Given the description of an element on the screen output the (x, y) to click on. 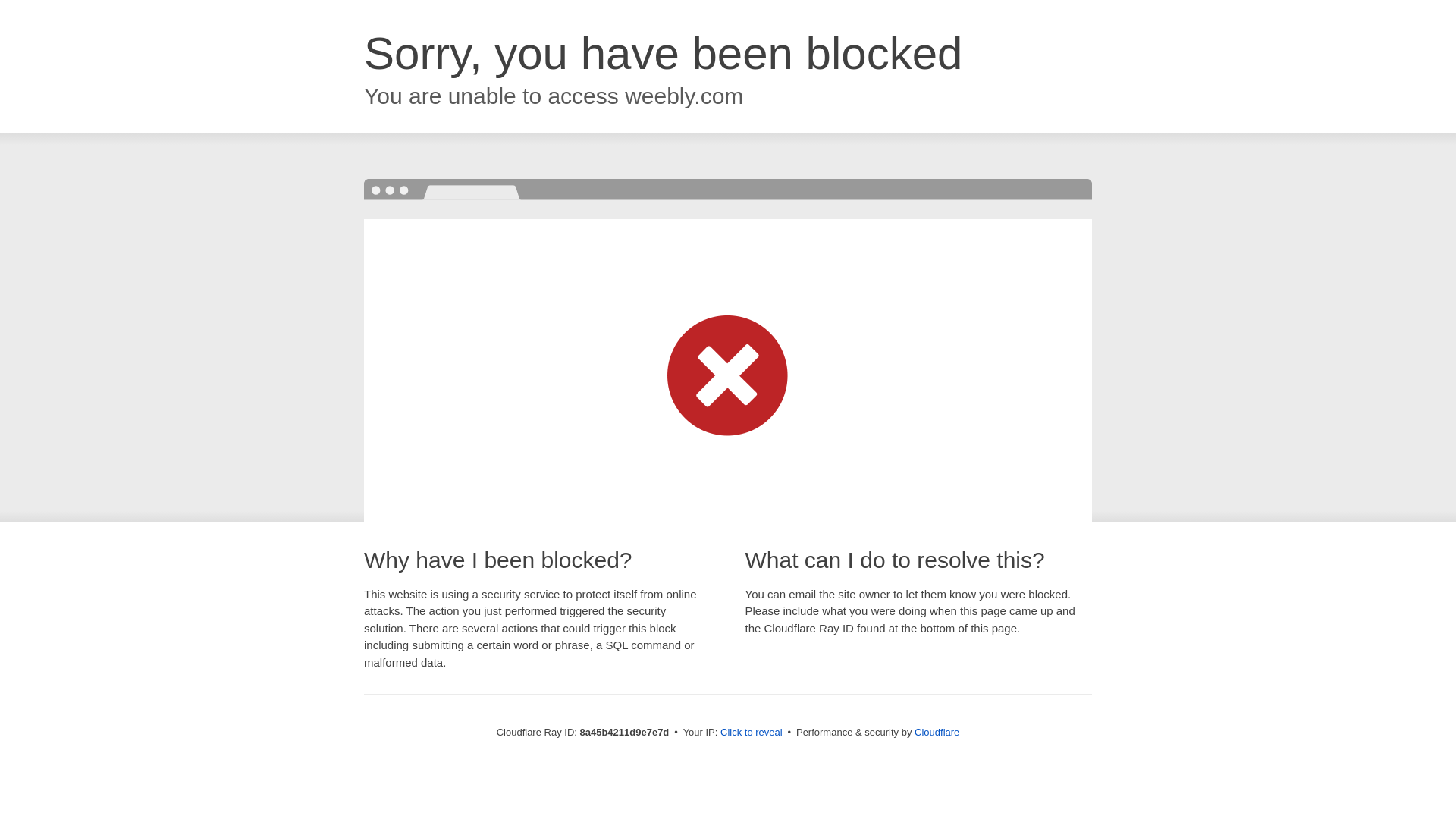
Click to reveal (751, 732)
Cloudflare (936, 731)
